Given the description of an element on the screen output the (x, y) to click on. 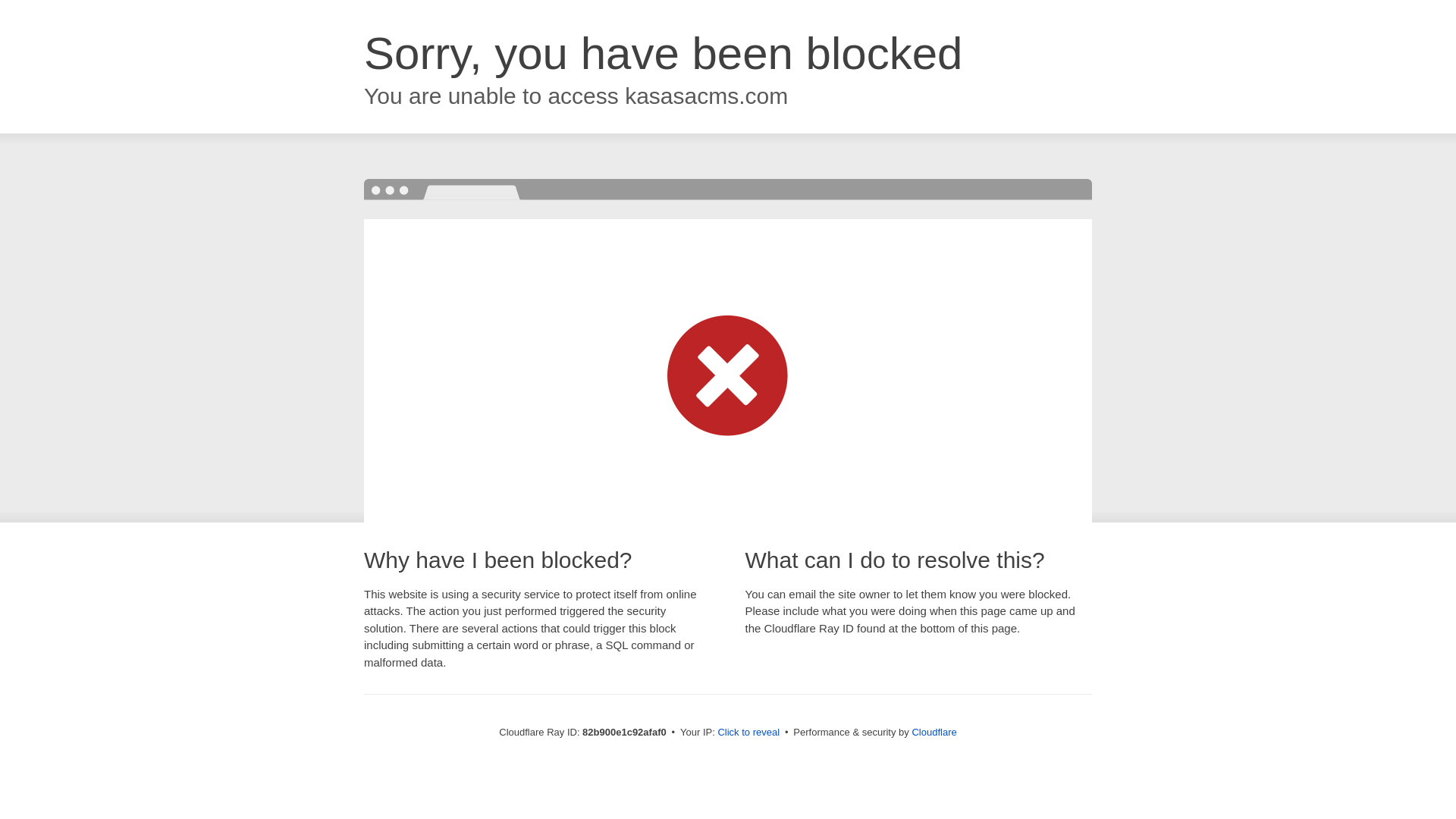
Cloudflare Element type: text (933, 731)
Click to reveal Element type: text (748, 732)
